Given the description of an element on the screen output the (x, y) to click on. 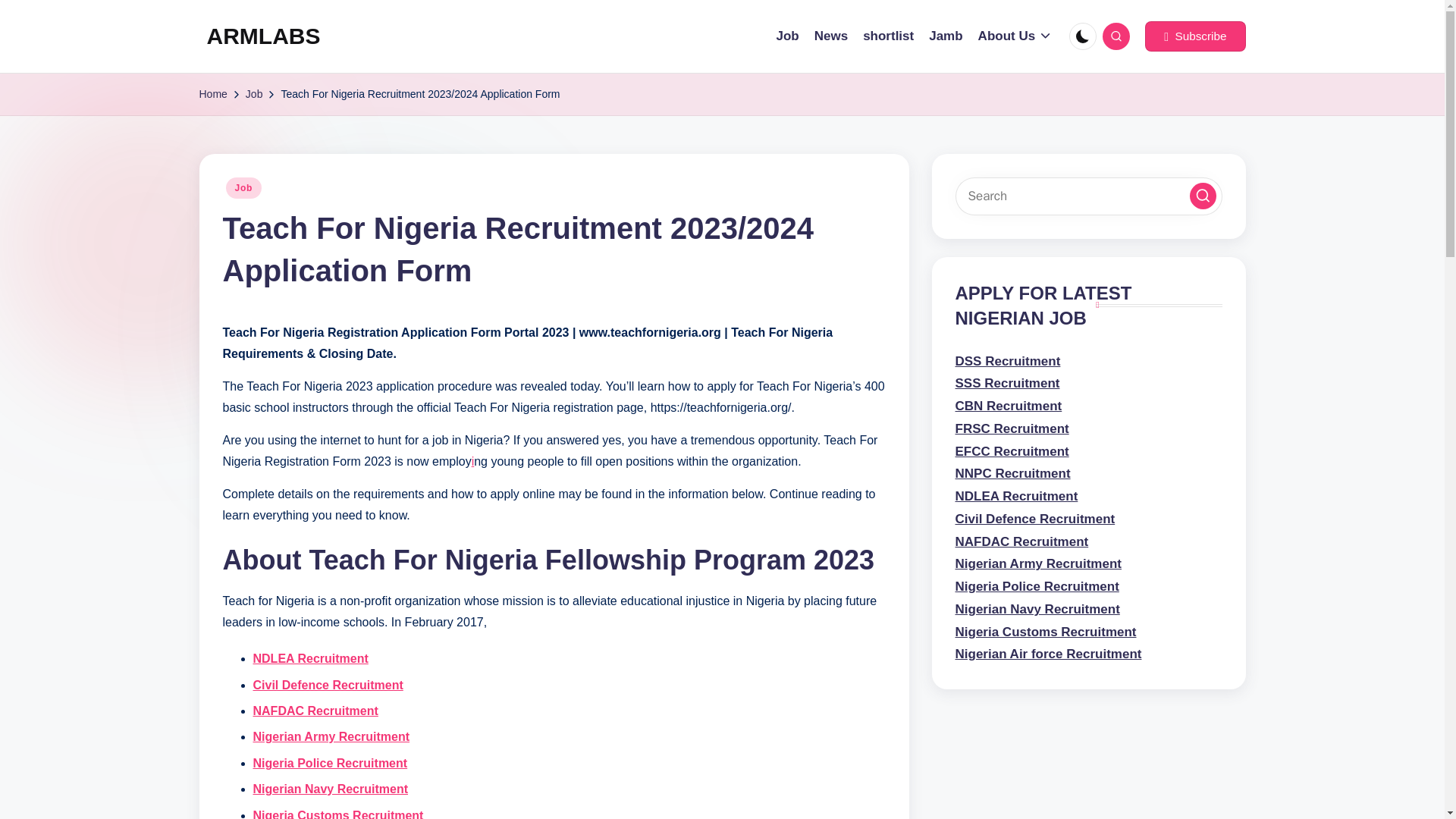
Subscribe (1194, 36)
CBN Recruitment (1008, 405)
SSS Recruitment (1007, 382)
Nigeria Customs Recruitment (338, 814)
Nigerian Army Recruitment (331, 736)
News (830, 36)
Job (254, 94)
Job (243, 188)
shortlist (888, 36)
Civil Defence Recruitment (328, 684)
Nigerian Navy Recruitment (331, 788)
NDLEA Recruitment (310, 658)
Nigeria Police Recruitment (330, 762)
Home (212, 94)
FRSC Recruitment (1011, 428)
